Given the description of an element on the screen output the (x, y) to click on. 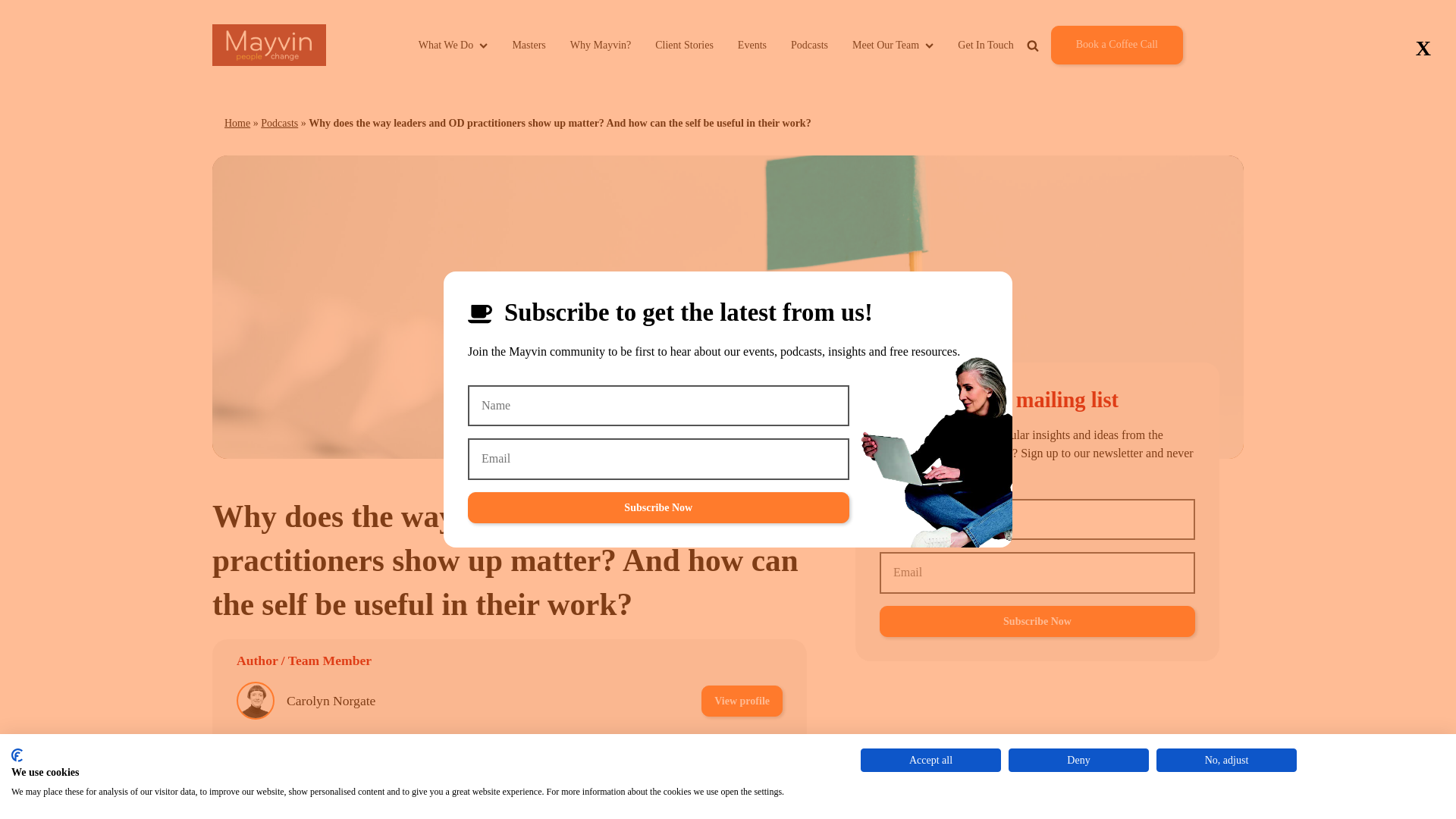
Events (752, 45)
Why Mayvin? (600, 45)
Meet Our Team (892, 45)
Subscribe Now (1037, 621)
Organisation Development (513, 805)
Subscribe Now (657, 507)
What We Do (453, 45)
Carolyn Norgate (330, 700)
X (1423, 48)
View profile (742, 753)
Podcast (642, 805)
Search (1078, 80)
Podcasts (279, 122)
Podcasts (809, 45)
View profile (742, 700)
